Given the description of an element on the screen output the (x, y) to click on. 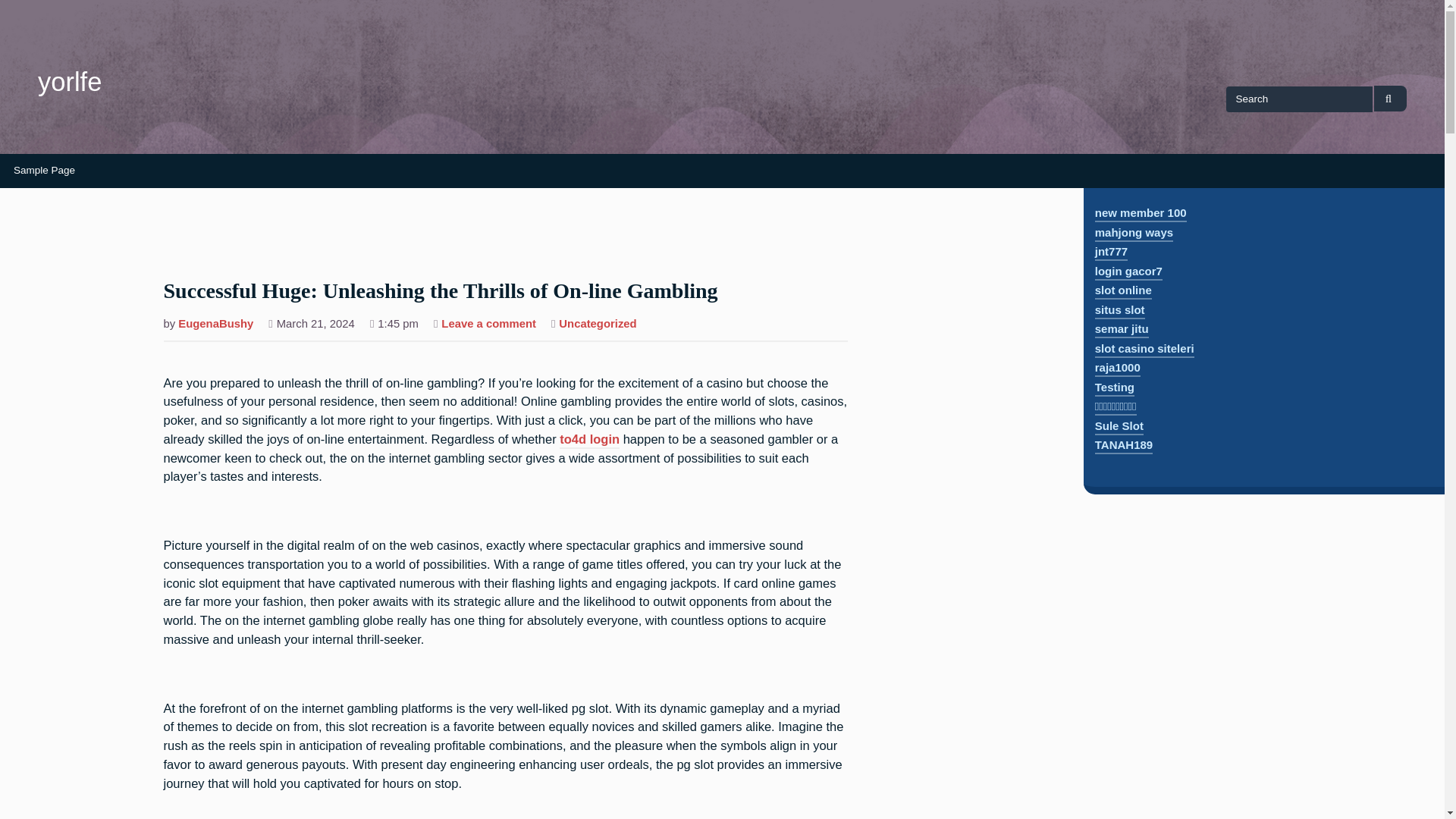
raja1000 (1117, 368)
Uncategorized (597, 324)
Sule Slot (1118, 426)
Sample Page (44, 170)
semar jitu (1121, 330)
EugenaBushy (215, 324)
Search (1390, 98)
Testing (1114, 388)
situs slot (1119, 311)
